Given the description of an element on the screen output the (x, y) to click on. 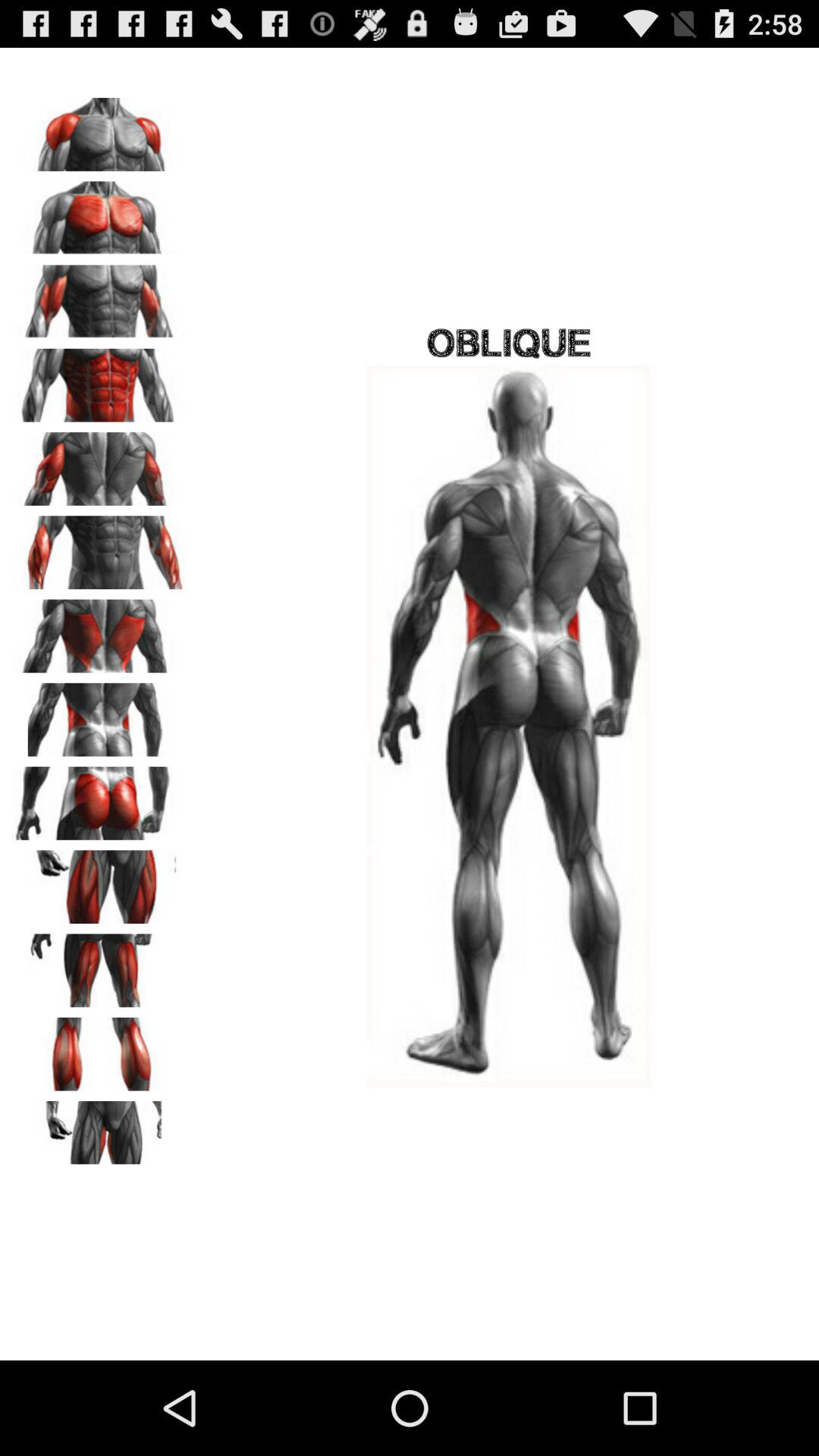
view animation (99, 965)
